Given the description of an element on the screen output the (x, y) to click on. 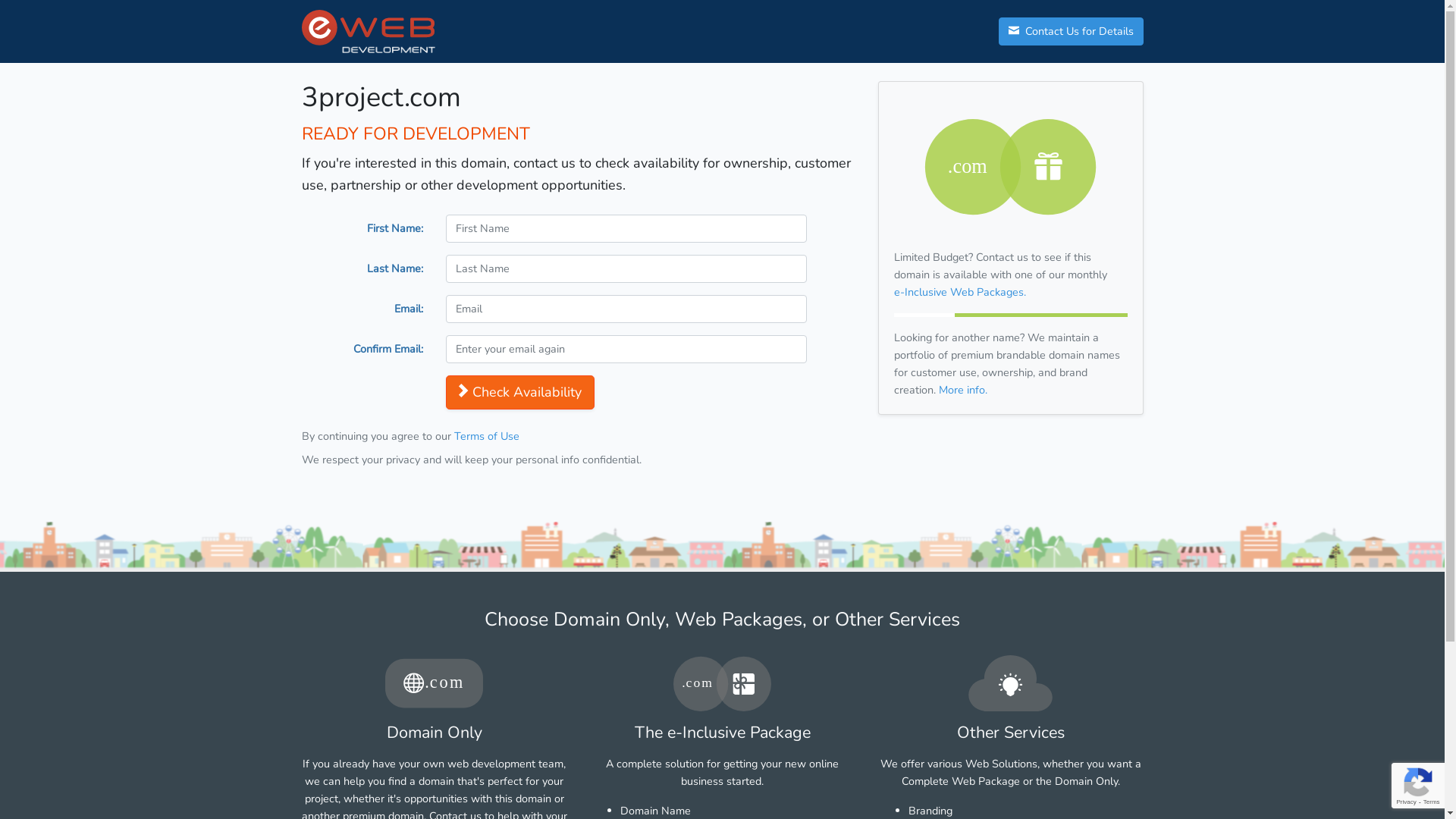
Check Availability Element type: text (519, 392)
e-Inclusive Web Packages. Element type: text (959, 291)
Terms of Use Element type: text (485, 435)
More info. Element type: text (962, 389)
Contact Us for Details Element type: text (1069, 31)
